Given the description of an element on the screen output the (x, y) to click on. 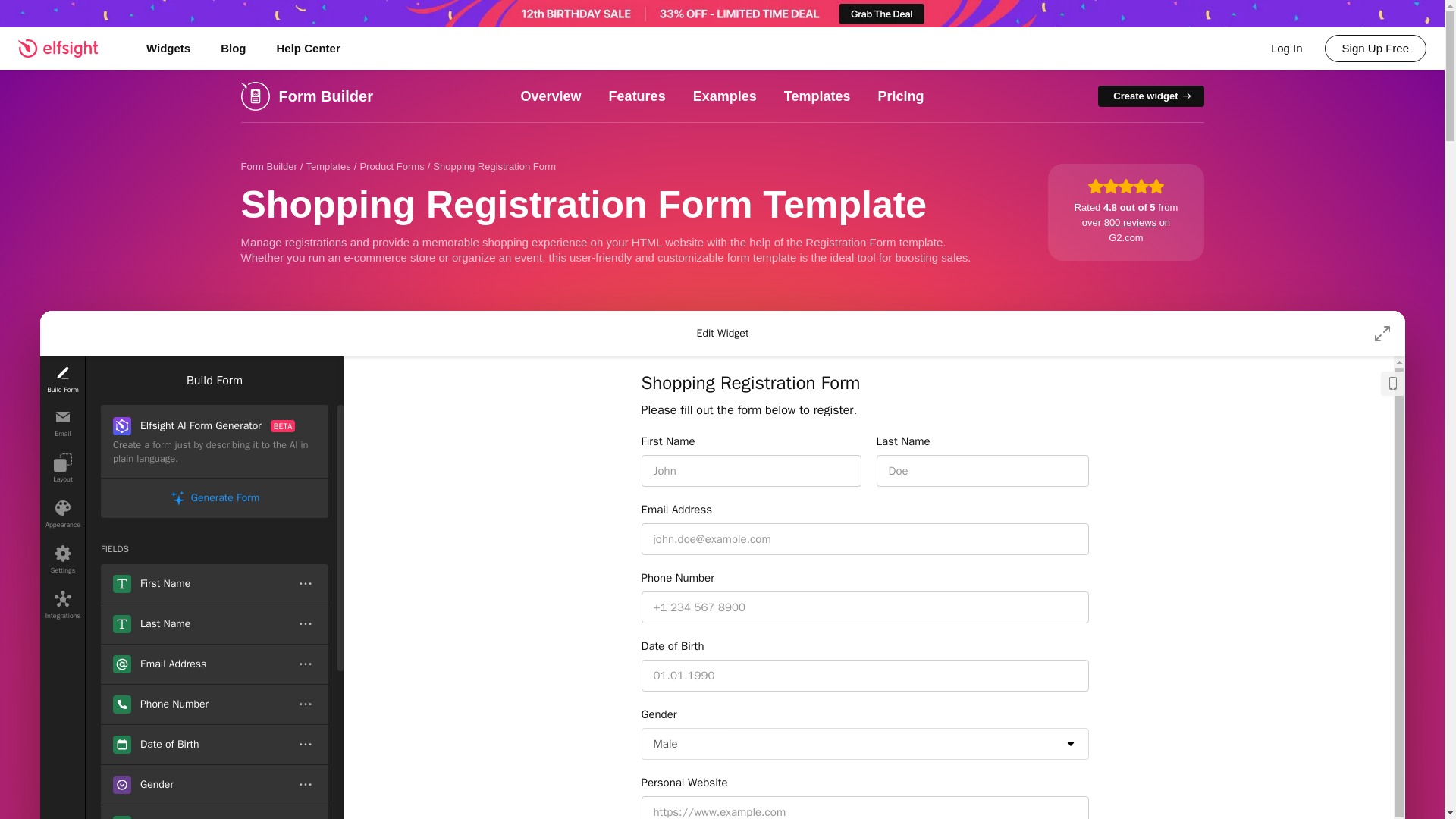
Full Screen (1381, 333)
Elfsight - Premium Plugins For Websites (66, 48)
Widgets (168, 48)
